Given the description of an element on the screen output the (x, y) to click on. 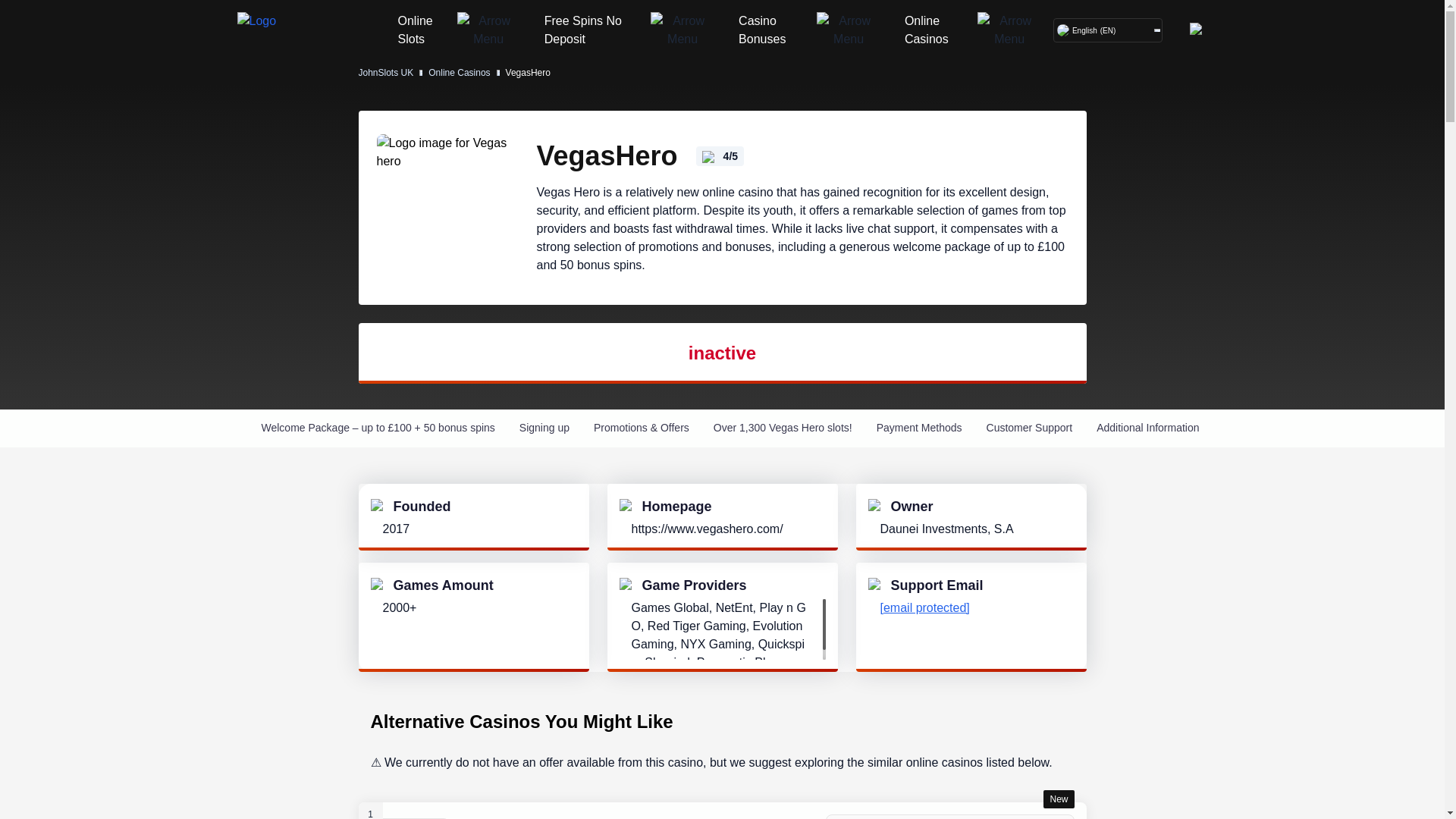
Casino Bonuses (774, 30)
informationBox (625, 506)
Free Spins No Deposit (594, 30)
Vegas hero logo (449, 207)
informationBox (874, 506)
Logo (270, 30)
Open search box (1197, 29)
informationBox (874, 585)
Casino Bonuses (809, 30)
